Given the description of an element on the screen output the (x, y) to click on. 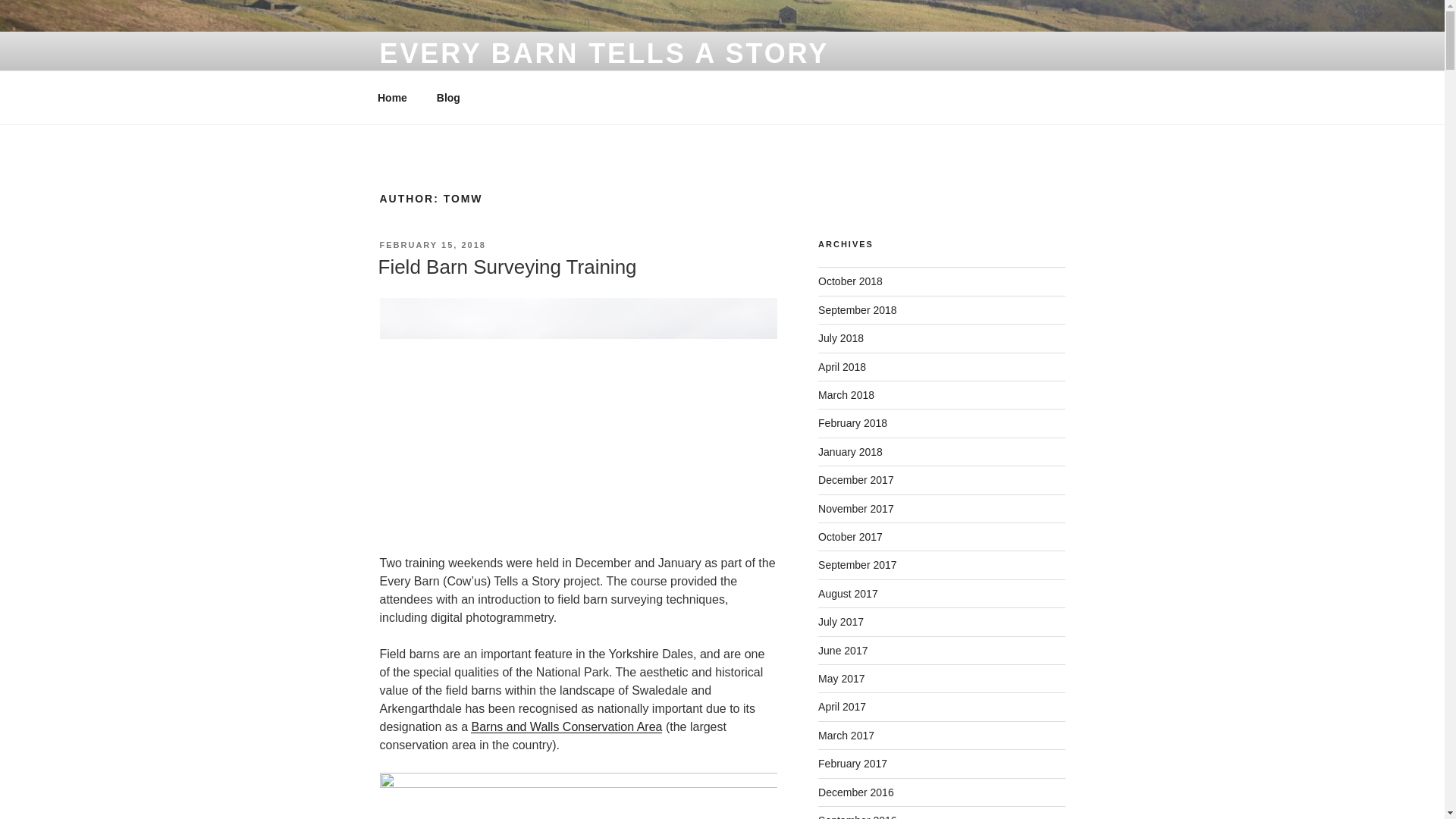
February 2017 (852, 763)
August 2017 (847, 593)
April 2018 (842, 367)
November 2017 (855, 508)
Field Barn Surveying Training (506, 266)
Home (392, 97)
September 2018 (857, 309)
December 2017 (855, 480)
June 2017 (842, 650)
FEBRUARY 15, 2018 (431, 244)
